Given the description of an element on the screen output the (x, y) to click on. 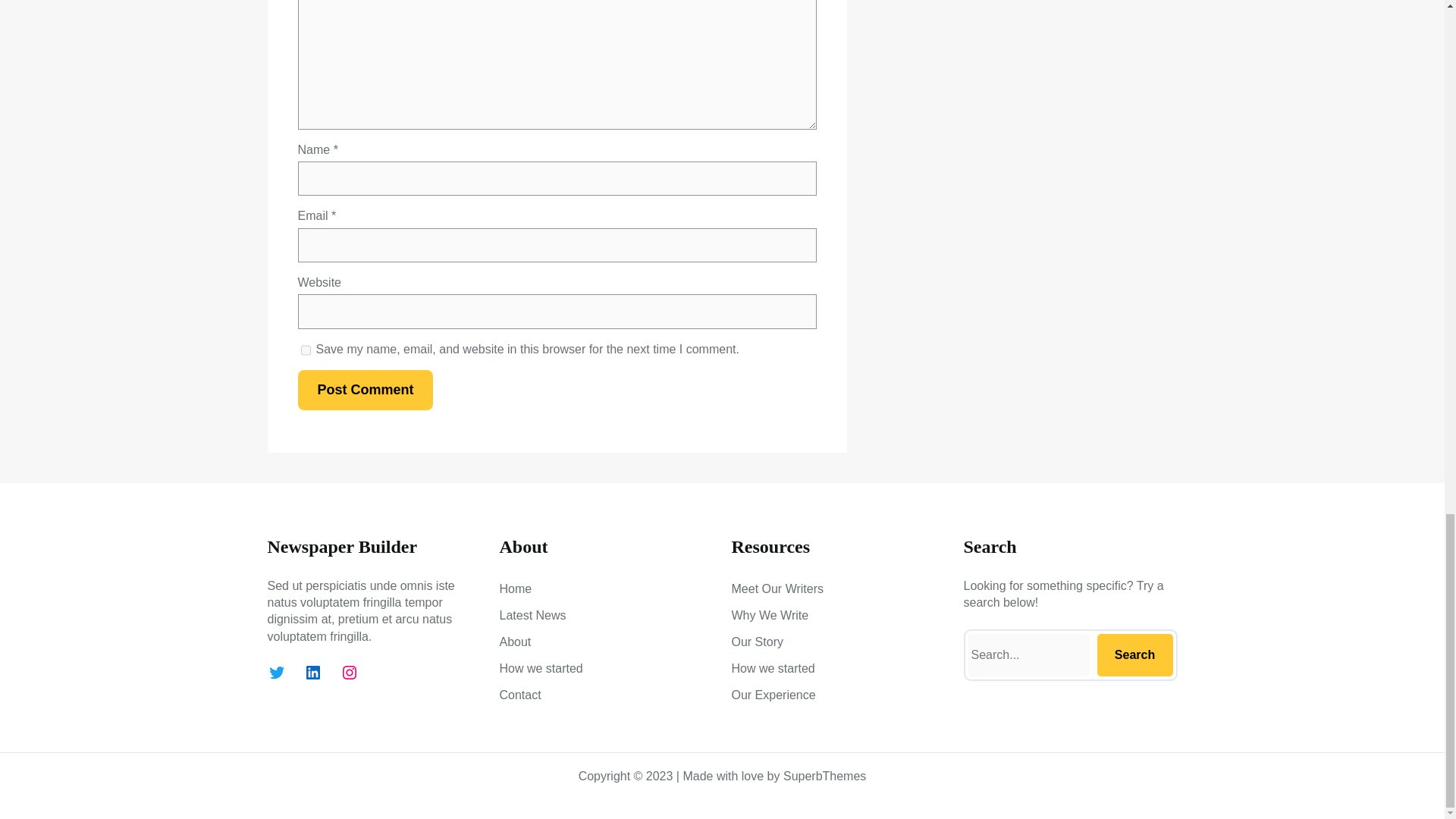
Twitter (275, 672)
Home (515, 589)
About (515, 641)
Latest News (532, 615)
Post Comment (364, 390)
How we started (540, 668)
LinkedIn (311, 672)
Post Comment (364, 390)
Contact (519, 694)
yes (304, 349)
